Given the description of an element on the screen output the (x, y) to click on. 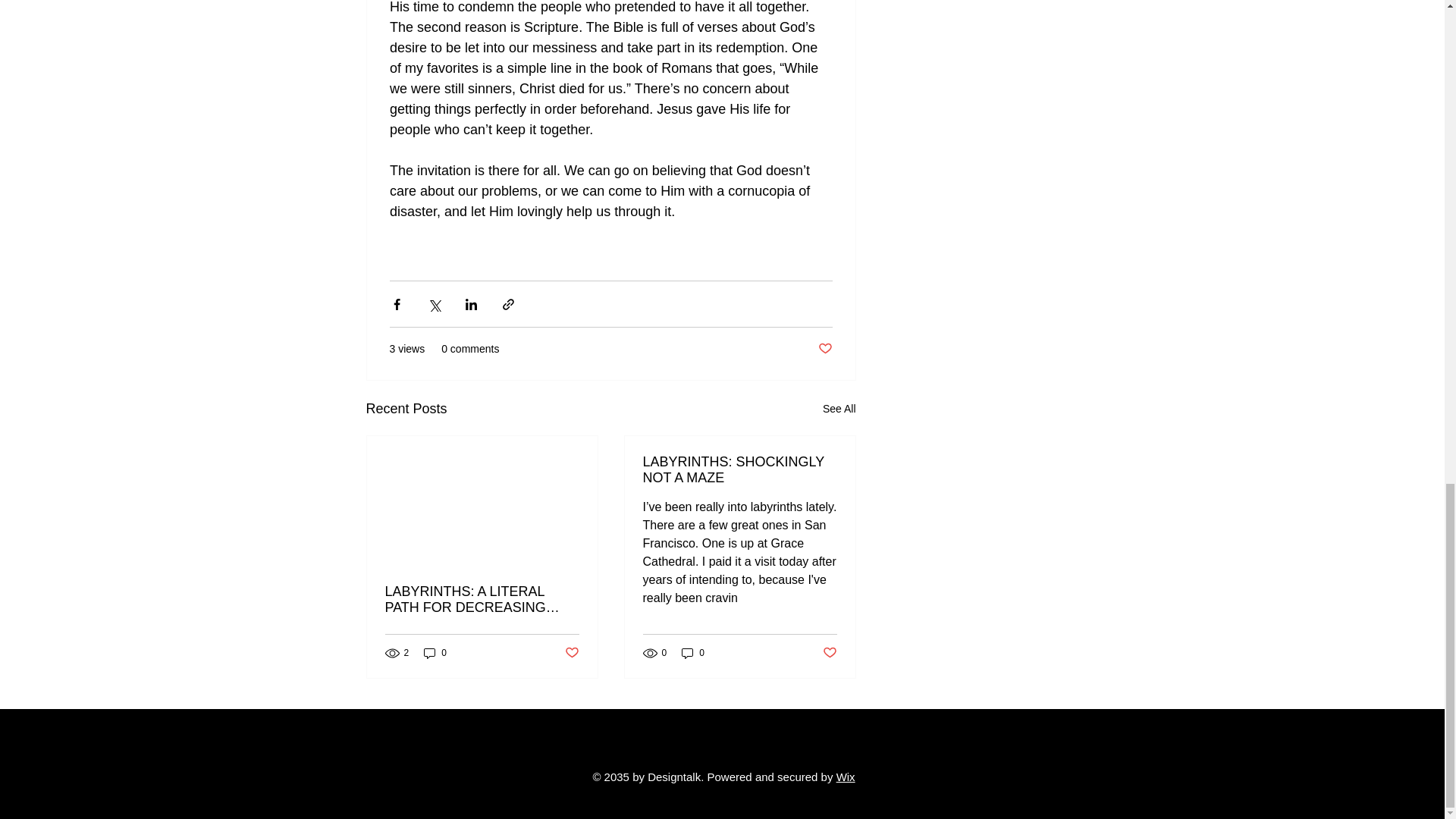
LABYRINTHS: SHOCKINGLY NOT A MAZE (740, 470)
LABYRINTHS: A LITERAL PATH FOR DECREASING YOUR ANXIETY (482, 599)
0 (435, 652)
See All (839, 409)
Post not marked as liked (828, 652)
Wix (845, 776)
0 (692, 652)
Post not marked as liked (823, 349)
Post not marked as liked (571, 652)
